Given the description of an element on the screen output the (x, y) to click on. 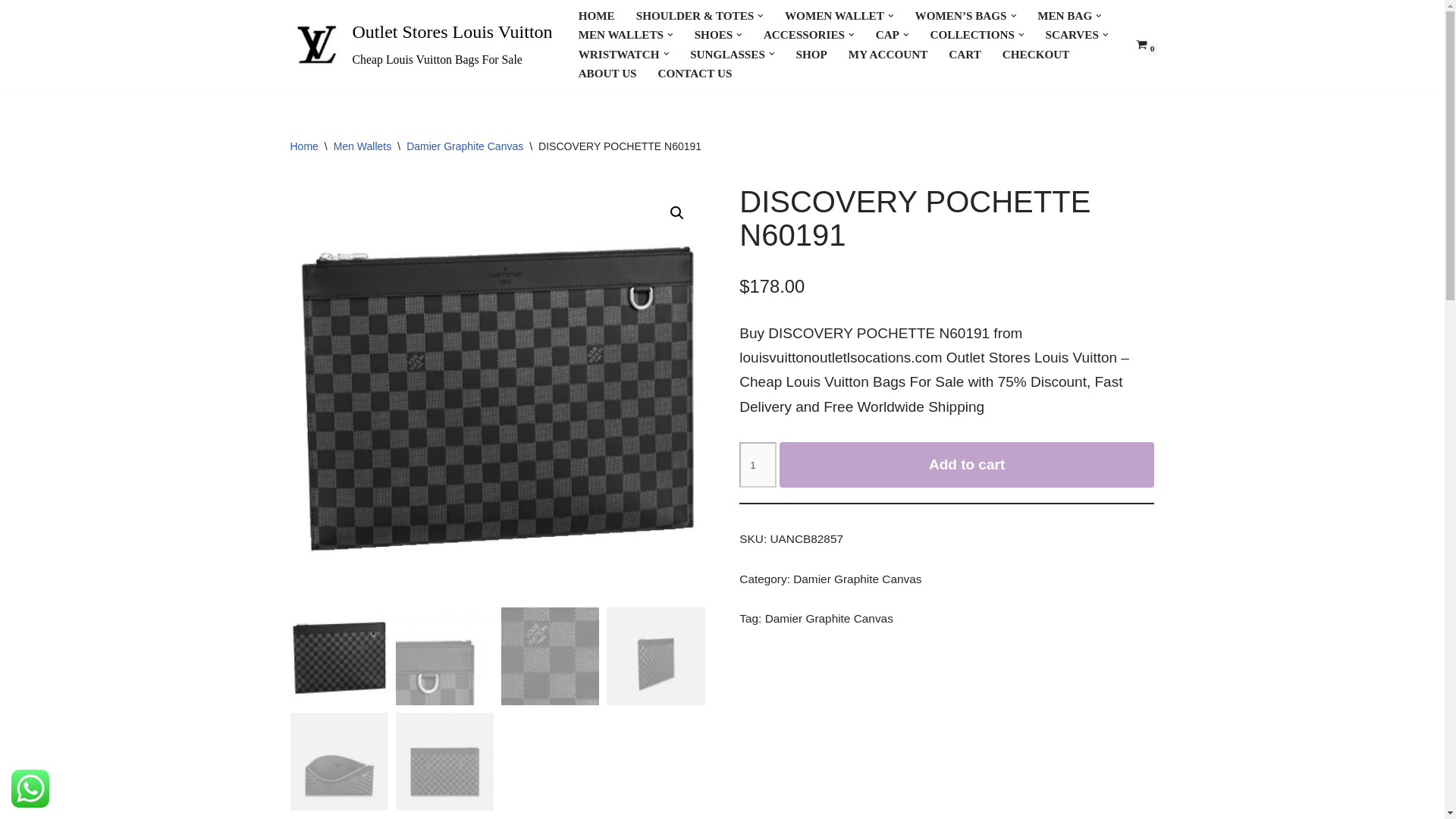
Skip to content (11, 31)
HOME (596, 15)
WOMEN WALLET (833, 15)
